Given the description of an element on the screen output the (x, y) to click on. 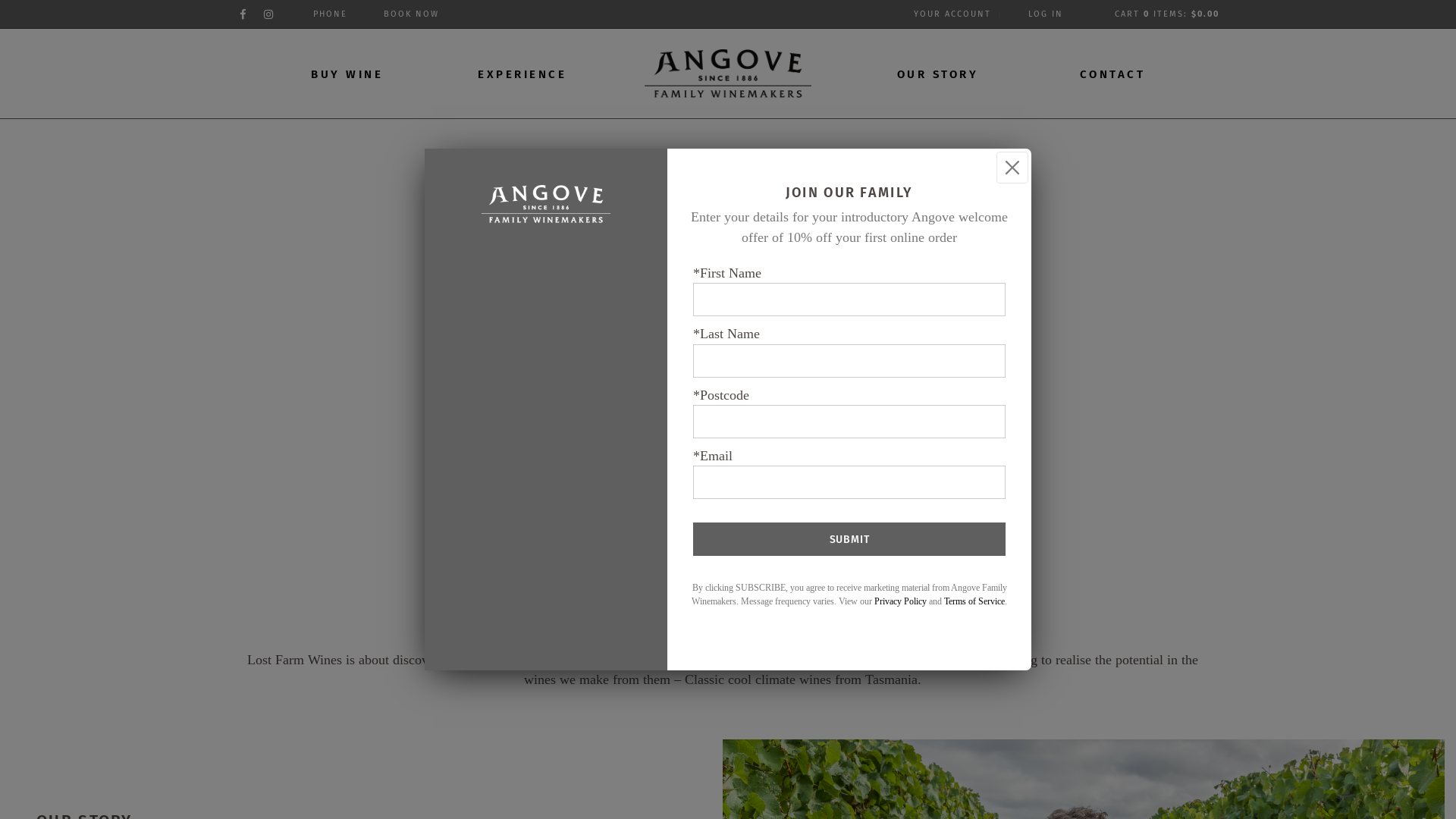
CONTACT Element type: text (1112, 74)
CART 0 ITEMS: $0.00 Element type: text (1166, 13)
Terms of Service Element type: text (974, 600)
Privacy Policy Element type: text (900, 600)
BUY WINE Element type: text (346, 74)
SUBMIT Element type: text (849, 538)
BOOK NOW Element type: text (949, 38)
EXPERIENCE Element type: text (521, 74)
YOUR ACCOUNT Element type: text (952, 13)
OUR STORY Element type: text (937, 74)
LOG IN Element type: text (1045, 13)
